Given the description of an element on the screen output the (x, y) to click on. 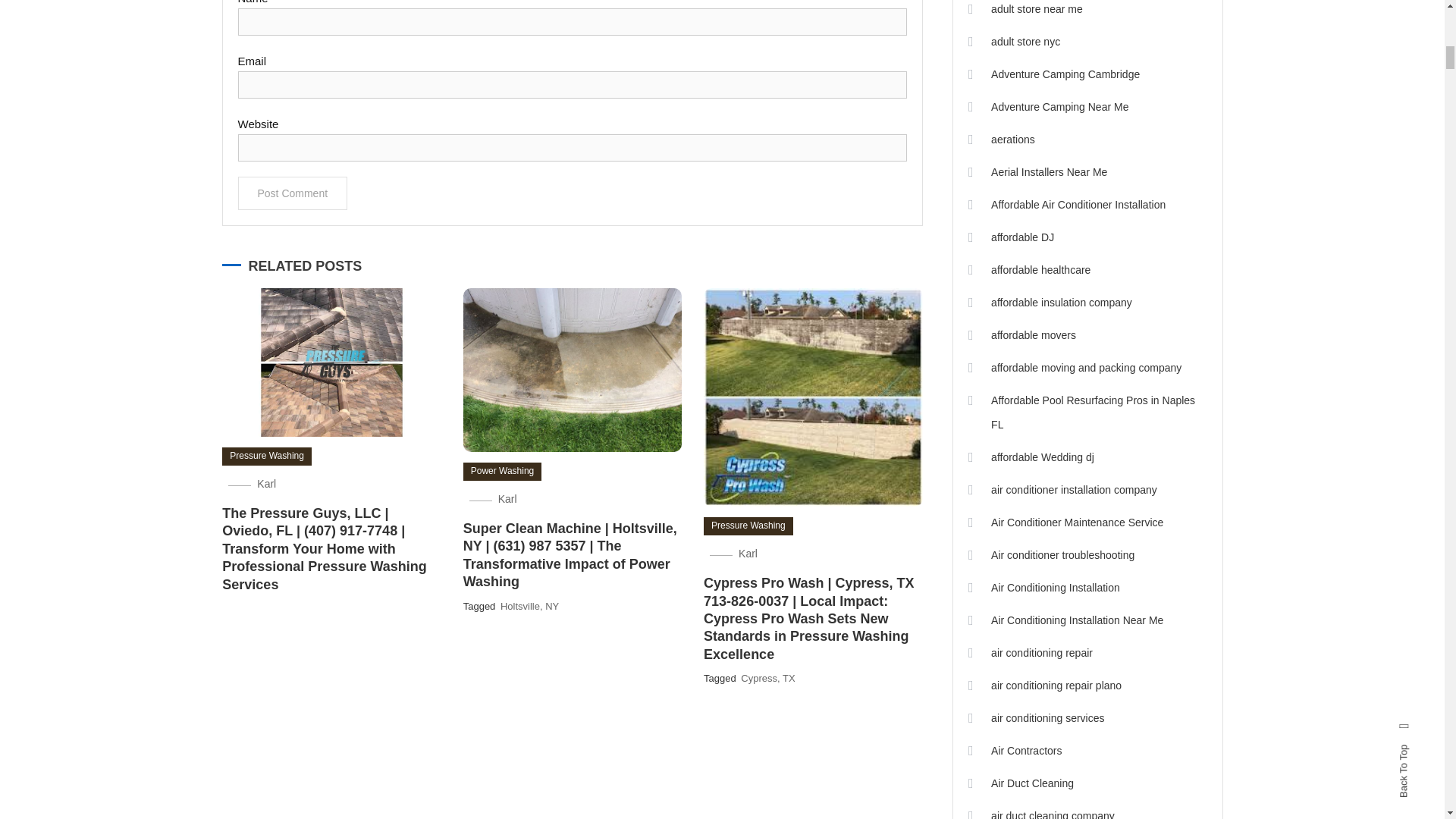
Post Comment (292, 192)
